Given the description of an element on the screen output the (x, y) to click on. 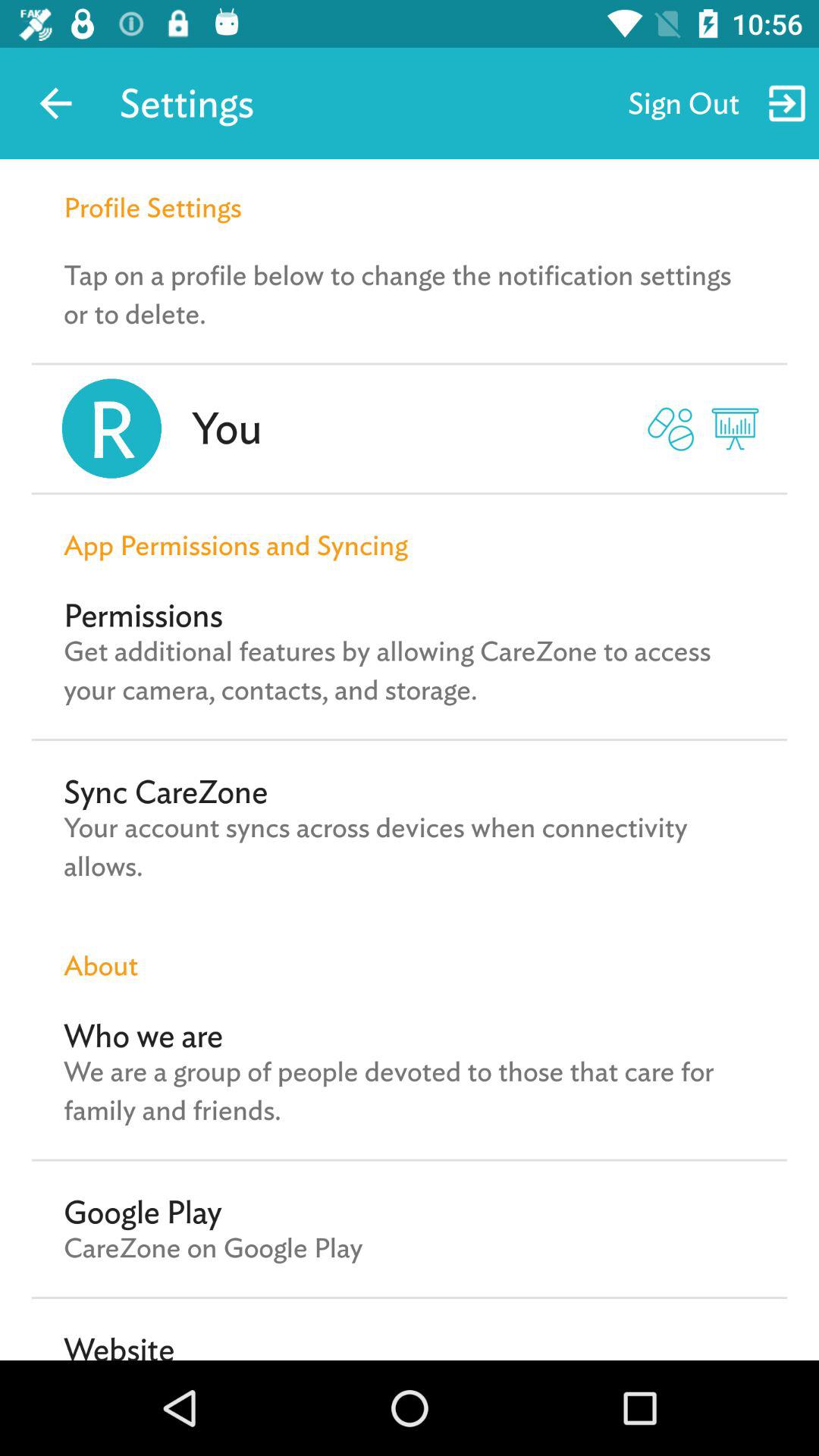
launch app next to settings app (55, 103)
